Given the description of an element on the screen output the (x, y) to click on. 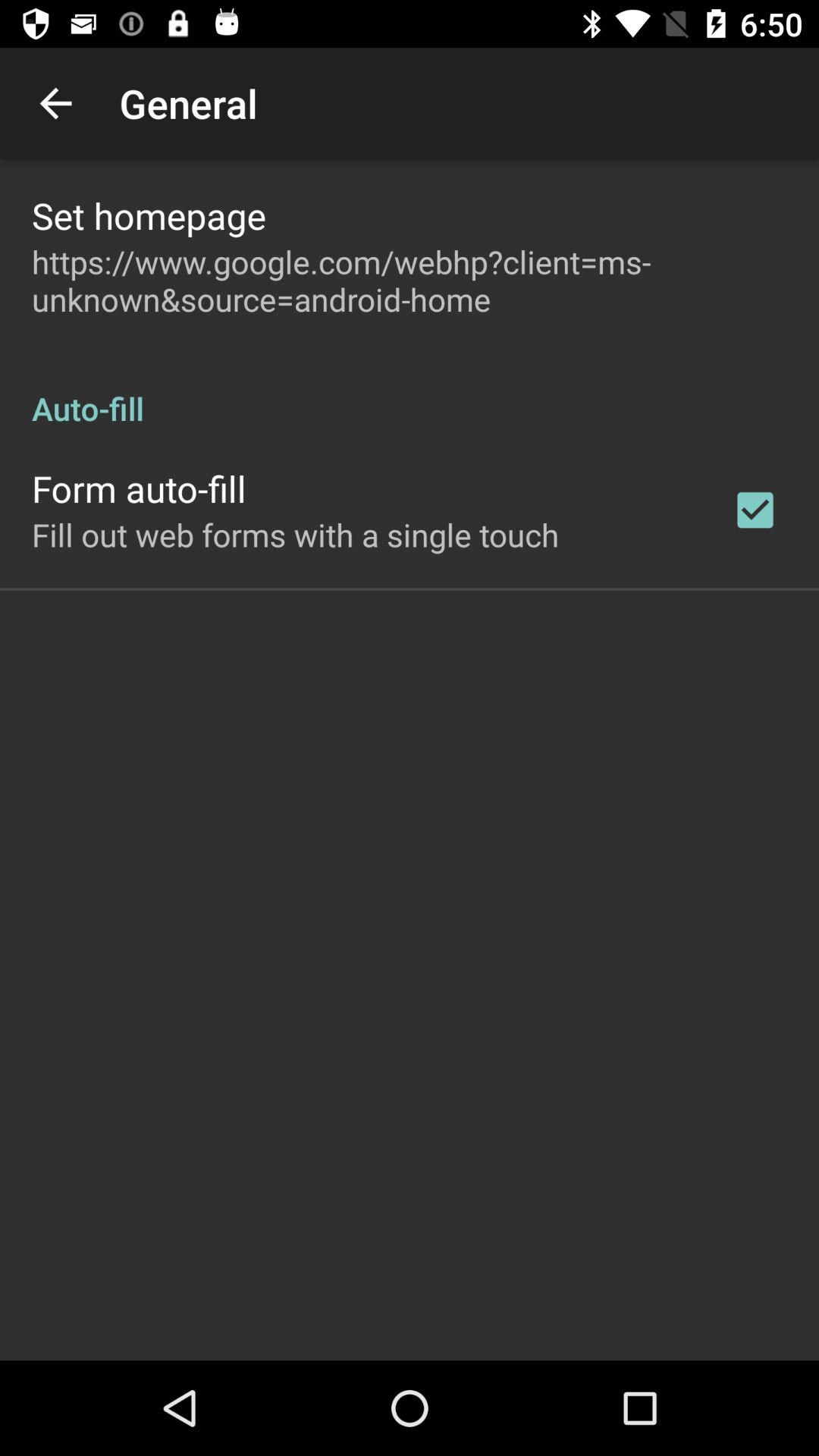
press the item next to the fill out web (755, 510)
